Given the description of an element on the screen output the (x, y) to click on. 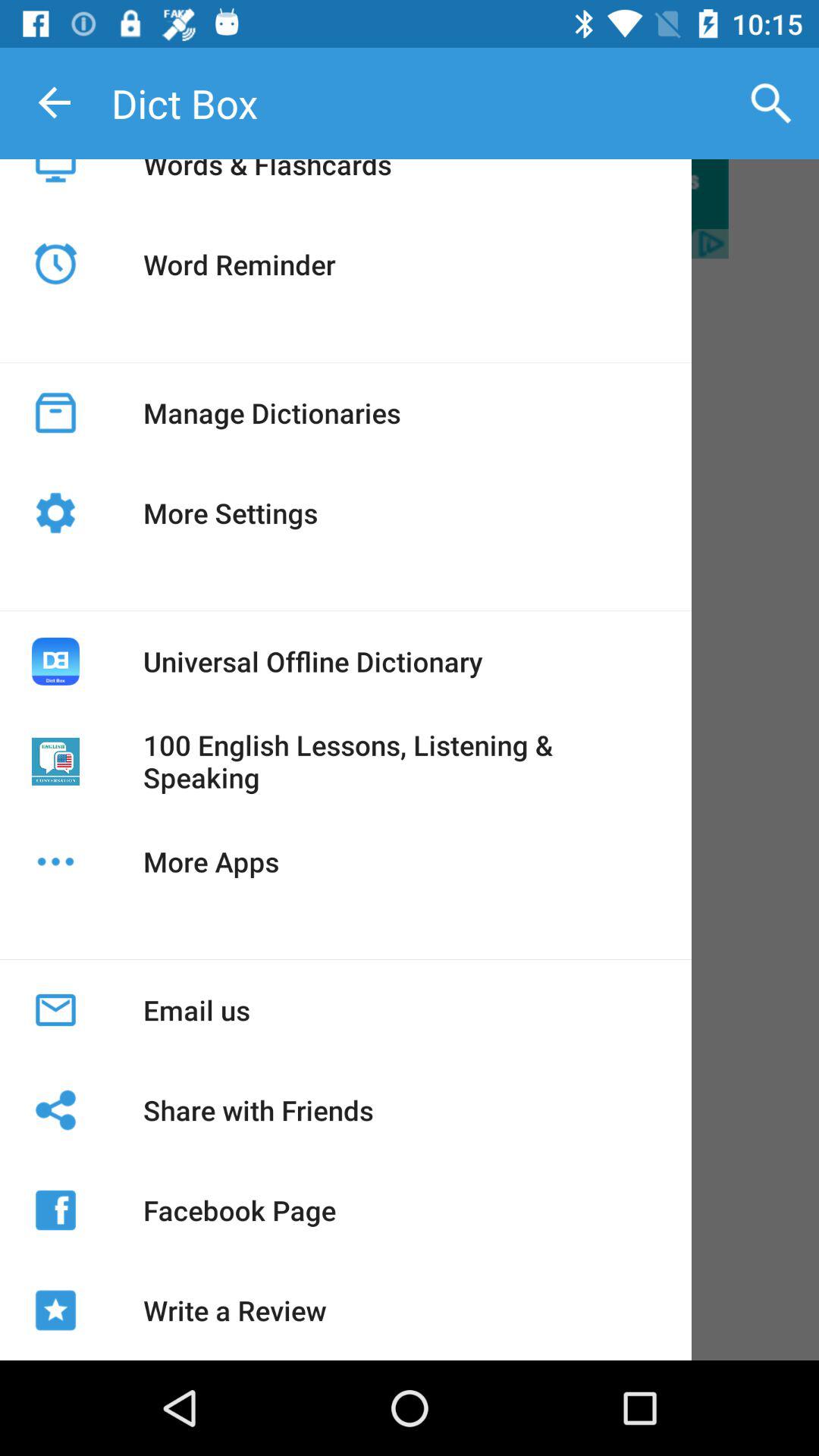
jump until 100 english lessons icon (401, 761)
